Given the description of an element on the screen output the (x, y) to click on. 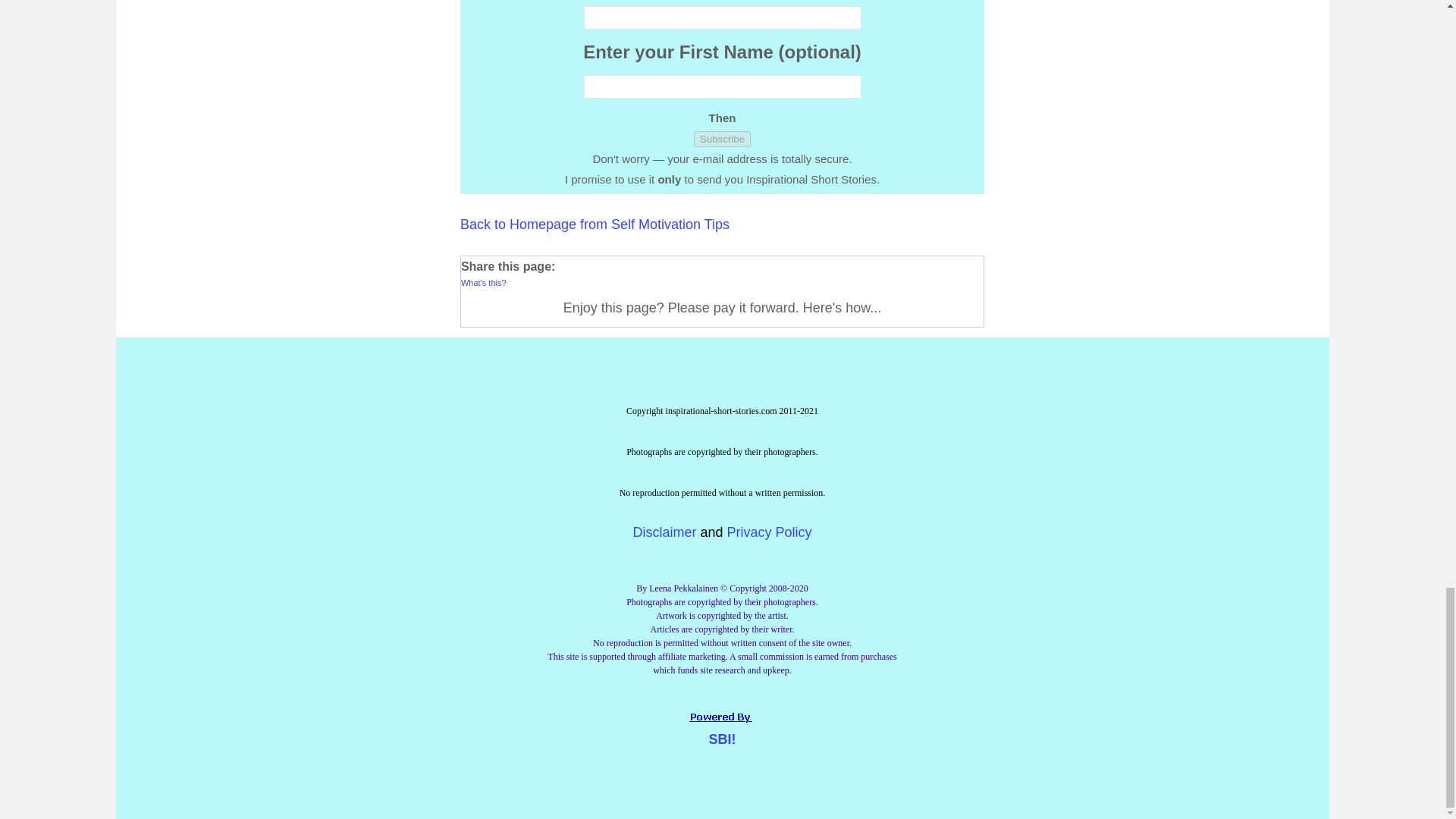
Subscribe (722, 139)
